Given the description of an element on the screen output the (x, y) to click on. 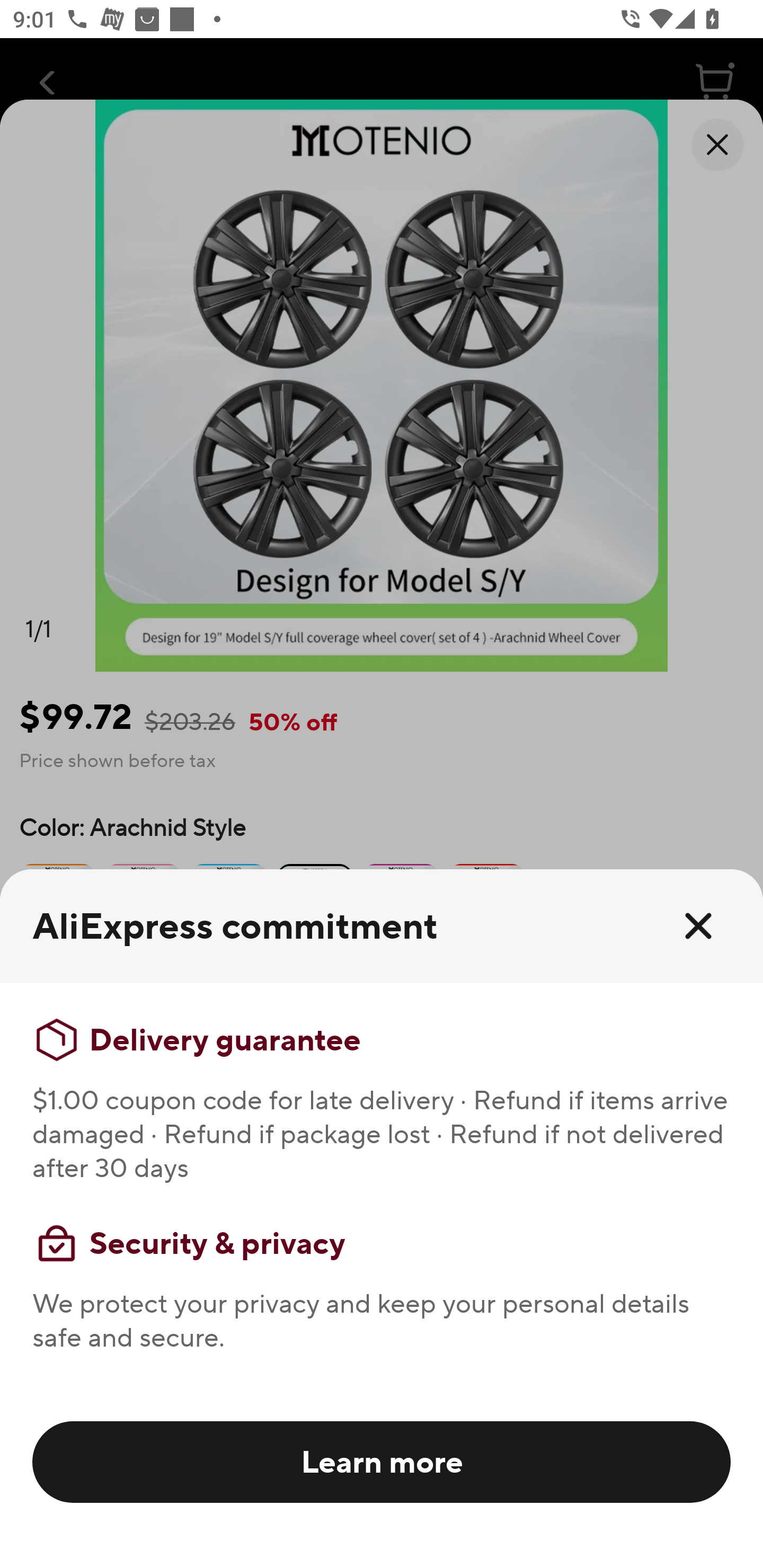
Learn more (381, 1461)
